Given the description of an element on the screen output the (x, y) to click on. 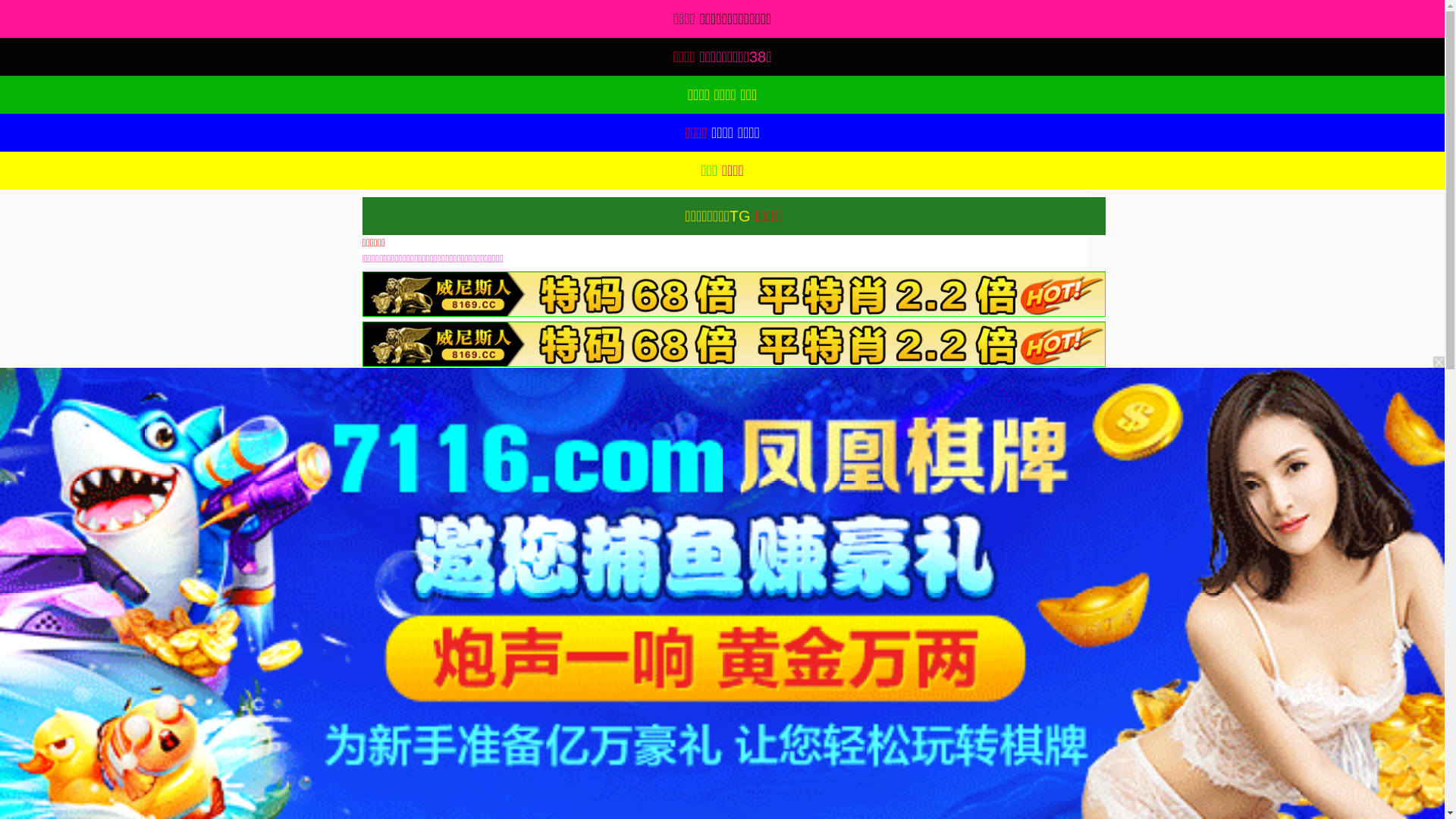
91TV Element type: hover (1240, 593)
